Given the description of an element on the screen output the (x, y) to click on. 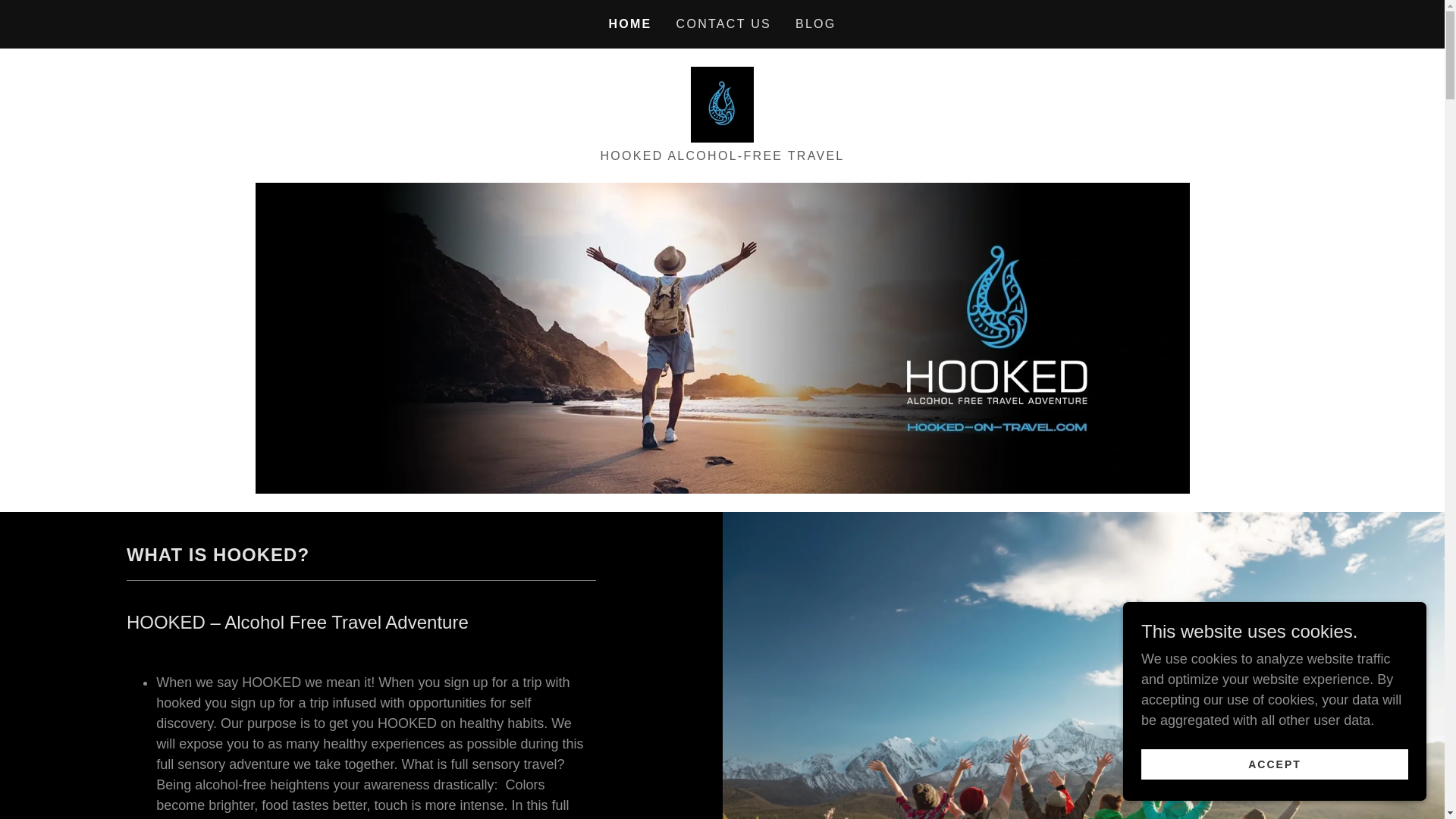
CONTACT US (723, 23)
HOME (629, 24)
BLOG (815, 23)
HOOKED Alcohol Free Travel Adventure (722, 103)
